Given the description of an element on the screen output the (x, y) to click on. 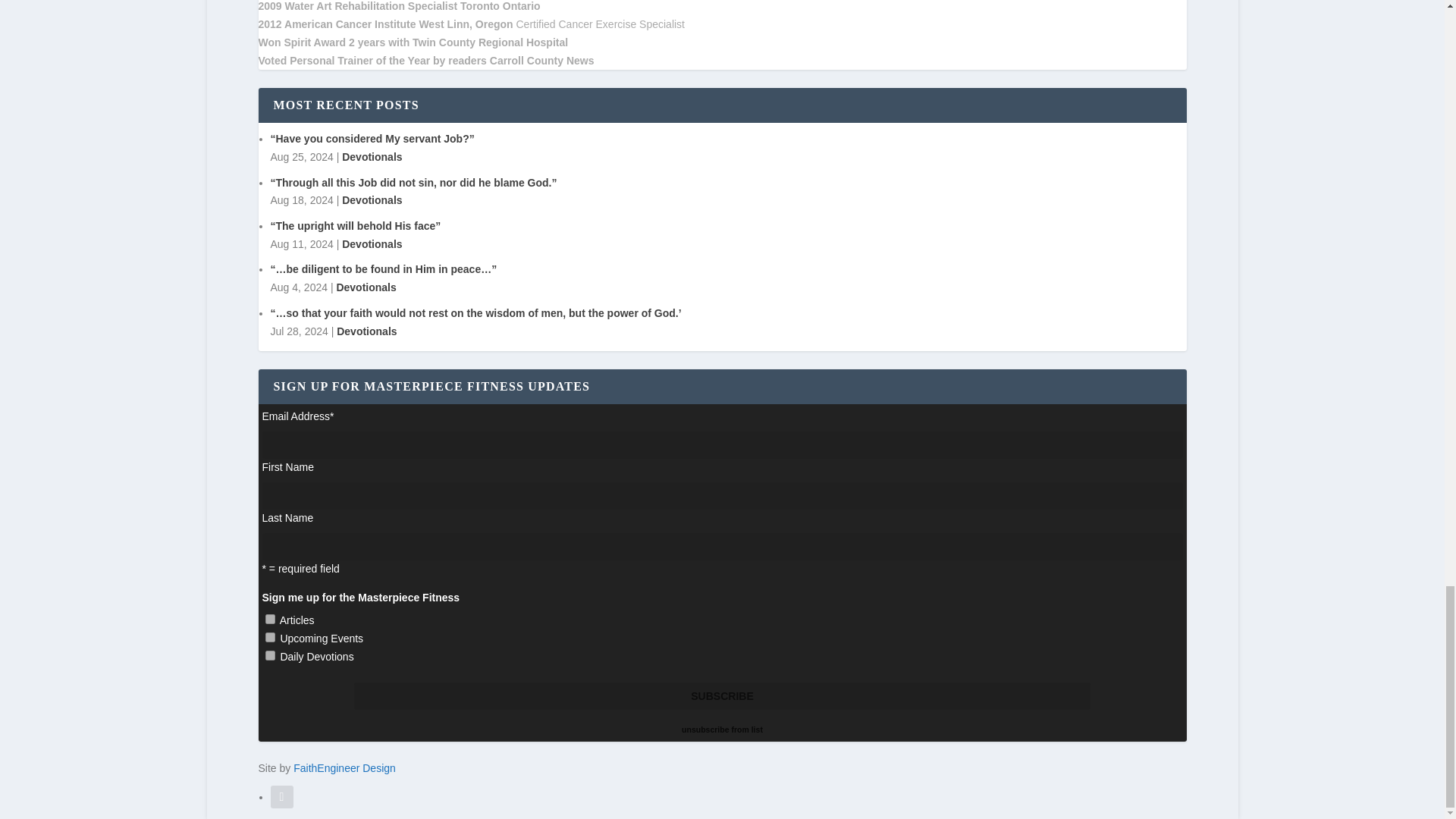
Articles (269, 619)
Daily Devotions (269, 655)
Upcoming Events (269, 637)
